Given the description of an element on the screen output the (x, y) to click on. 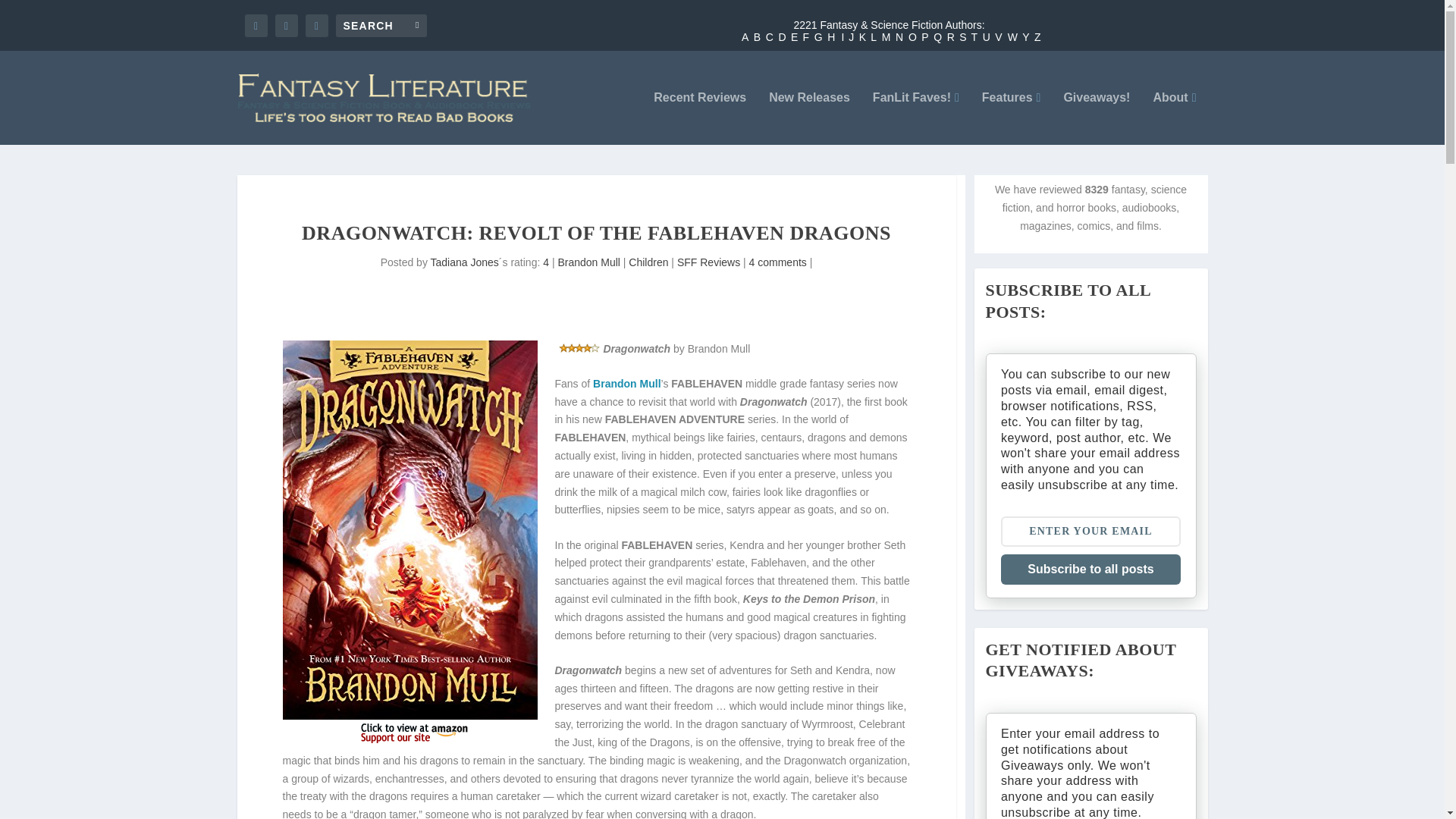
FanLit Faves! (915, 117)
Search for: (380, 24)
Posts by Tadiana Jones (464, 262)
